Given the description of an element on the screen output the (x, y) to click on. 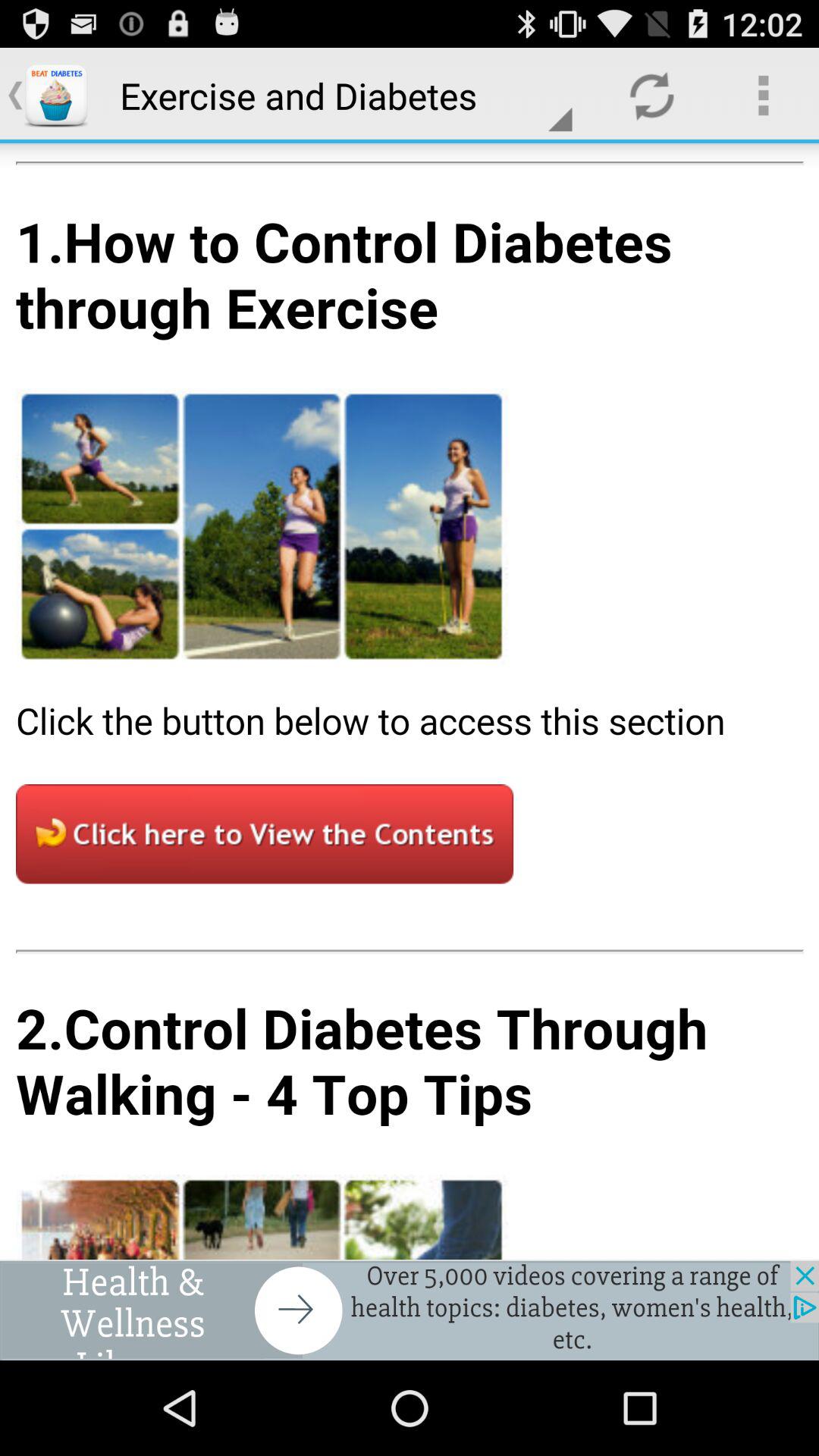
advertisement for health and wellness (409, 1310)
